Given the description of an element on the screen output the (x, y) to click on. 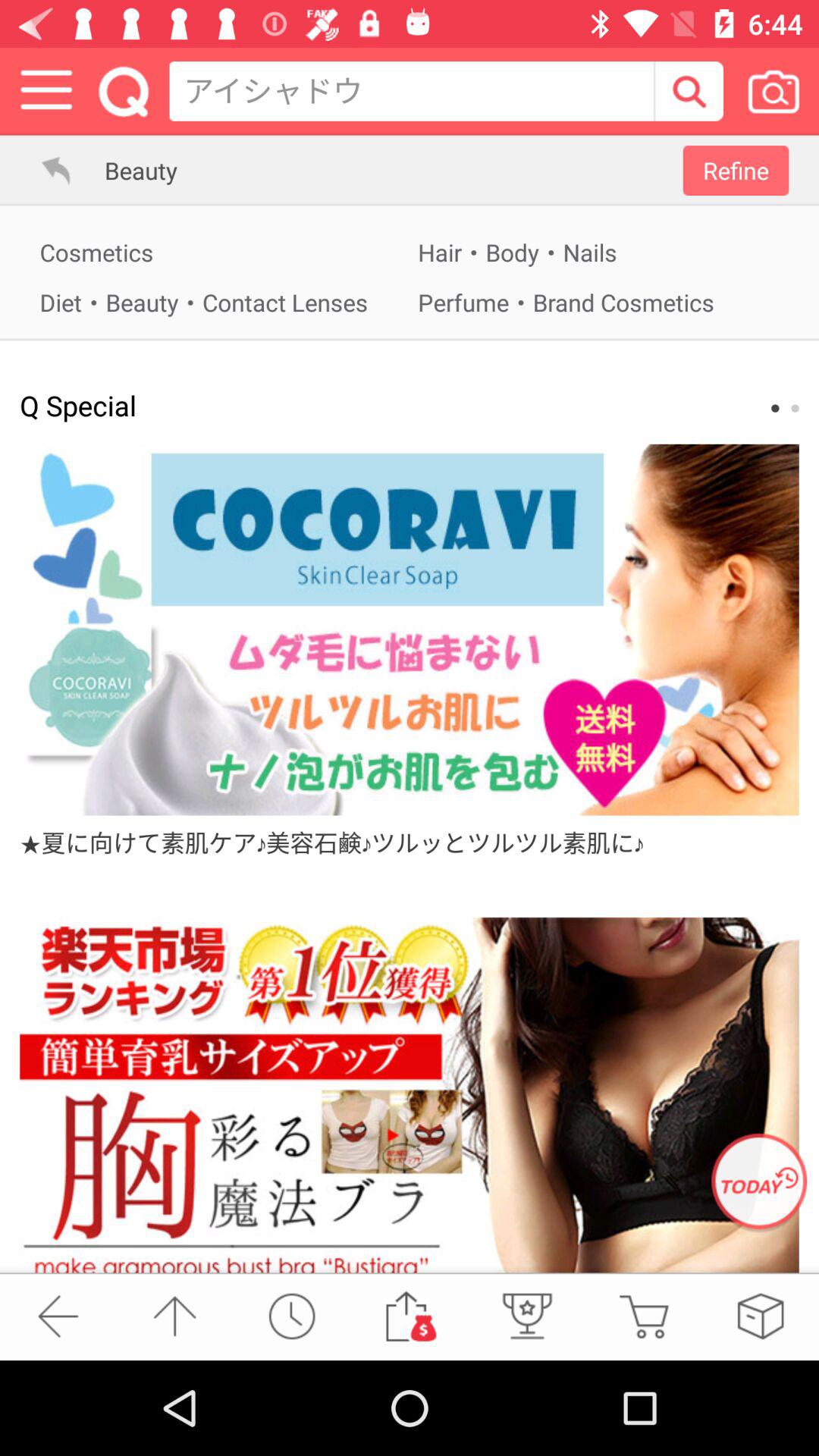
go to back (58, 1316)
